Given the description of an element on the screen output the (x, y) to click on. 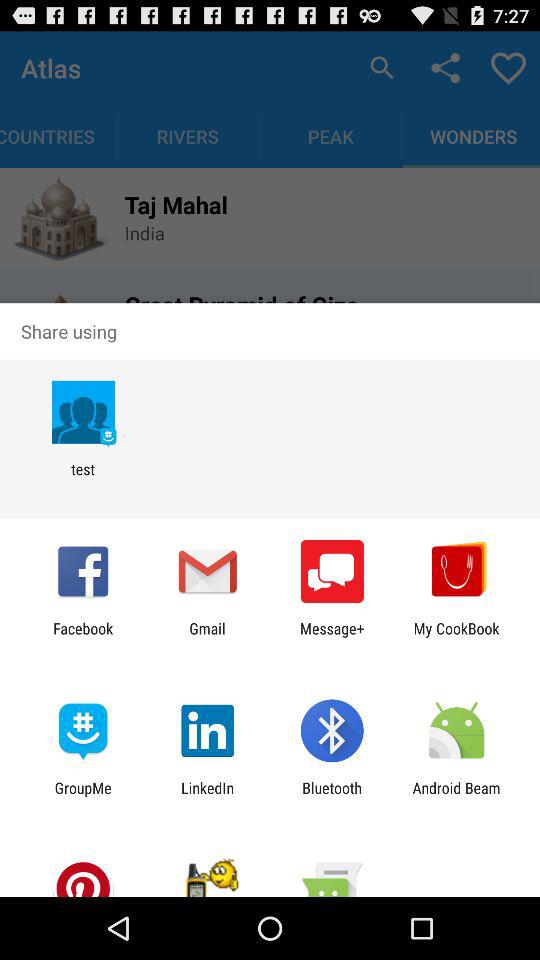
turn on the item to the left of bluetooth icon (207, 796)
